Given the description of an element on the screen output the (x, y) to click on. 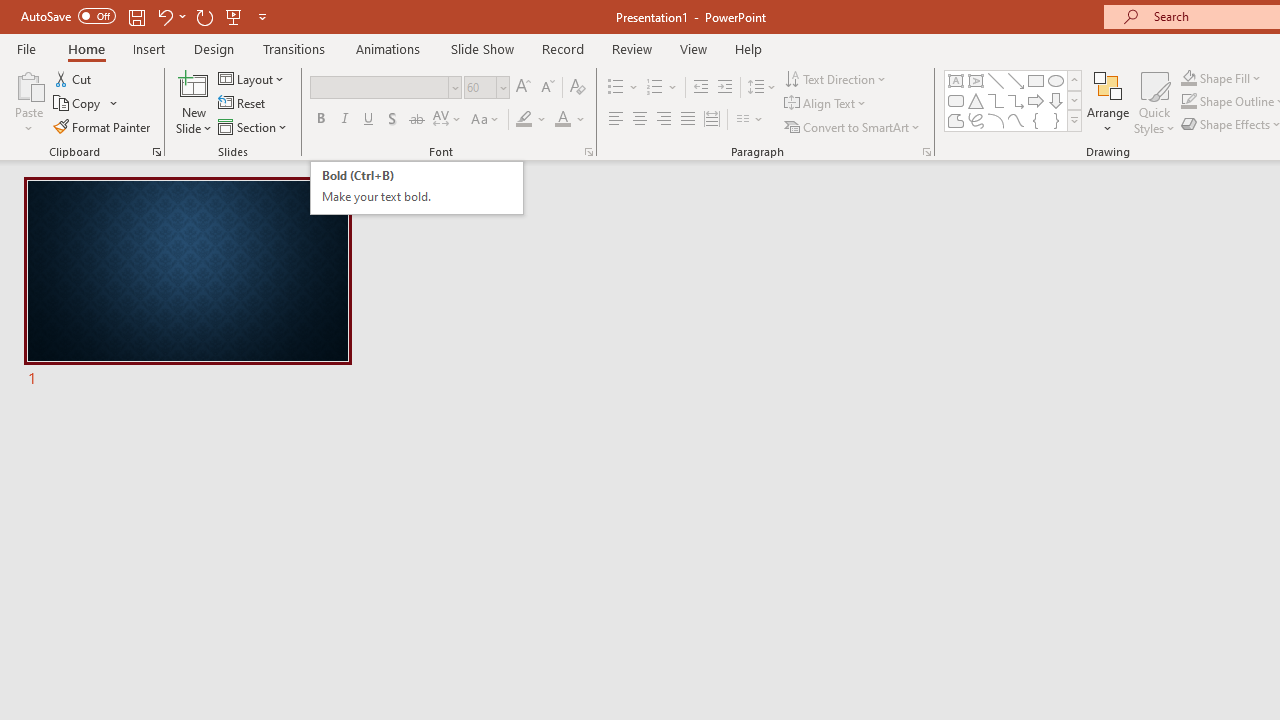
Shape Outline Blue, Accent 1 (1188, 101)
